Given the description of an element on the screen output the (x, y) to click on. 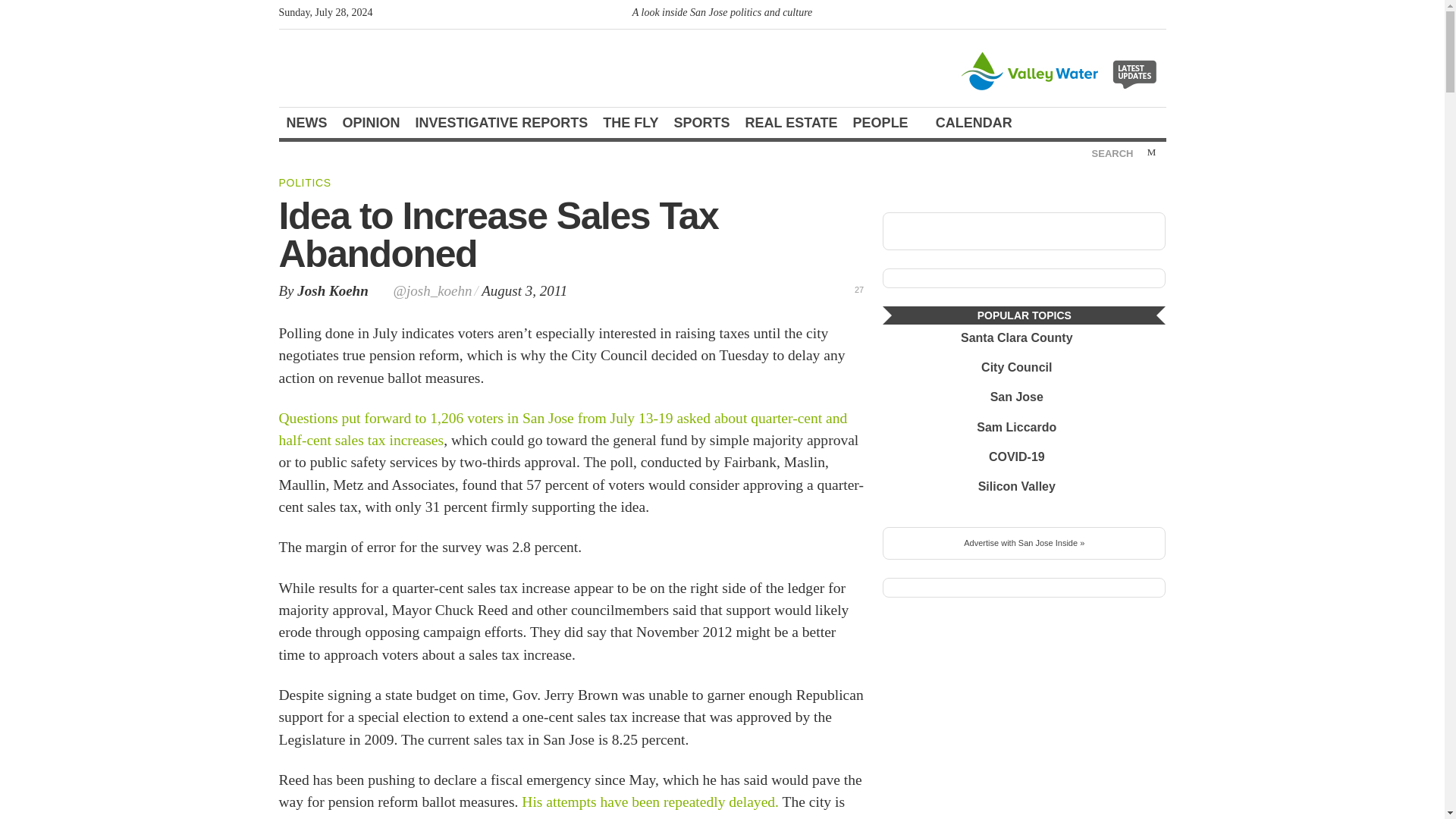
Investigative Reports (501, 122)
Posts by Josh Koehn (332, 290)
INVESTIGATIVE REPORTS (501, 122)
PEOPLE (886, 122)
View all posts in Politics (305, 182)
OPINION (370, 122)
The Fly (630, 122)
SPORTS (702, 122)
REAL ESTATE (791, 122)
27 comments (851, 287)
San Jose Inside on Twitter (1130, 14)
News from Valley Water (1061, 69)
News (306, 122)
NEWS (306, 122)
Opinion (370, 122)
